Given the description of an element on the screen output the (x, y) to click on. 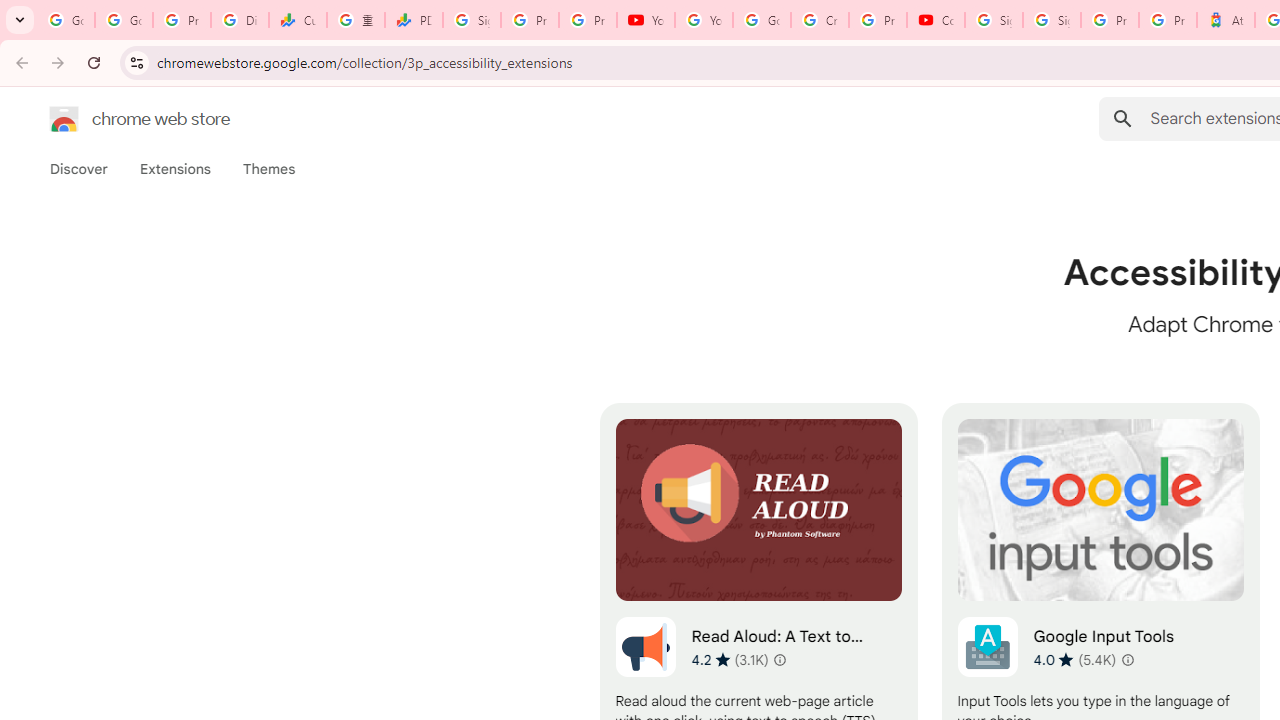
YouTube (645, 20)
Atour Hotel - Google hotels (1225, 20)
Sign in - Google Accounts (993, 20)
Google Workspace Admin Community (65, 20)
Content Creator Programs & Opportunities - YouTube Creators (936, 20)
